Given the description of an element on the screen output the (x, y) to click on. 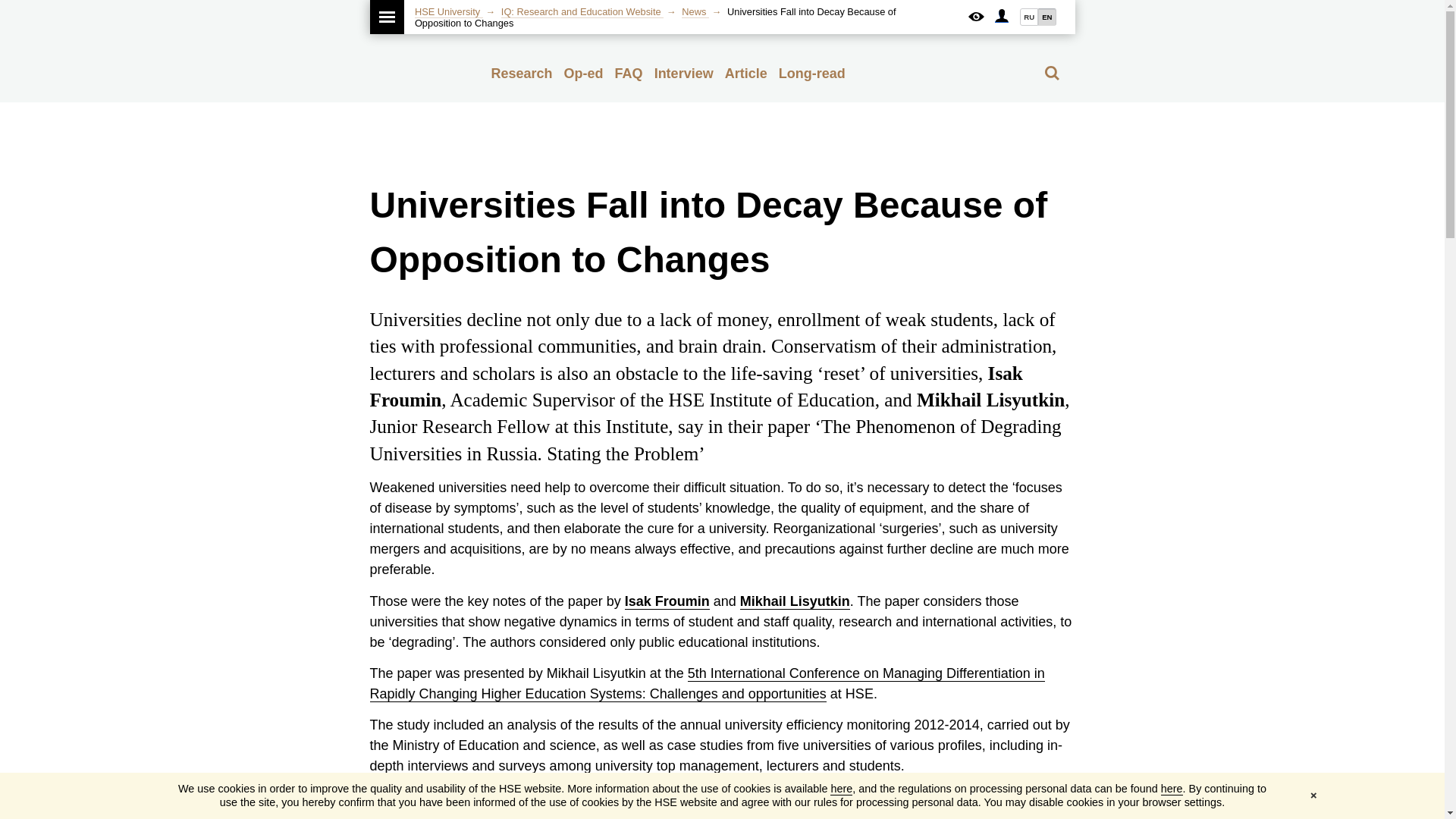
Search (1051, 73)
Mikhail Lisyutkin (794, 601)
News (695, 11)
For visually-impaired (975, 17)
Isak Froumin (667, 601)
FAQ (628, 73)
IQ: Research and Education Website (581, 11)
here (1171, 788)
Long-read (811, 73)
Article (746, 73)
Research (522, 73)
HSE University (448, 11)
Interview (683, 73)
EN (1046, 17)
